Given the description of an element on the screen output the (x, y) to click on. 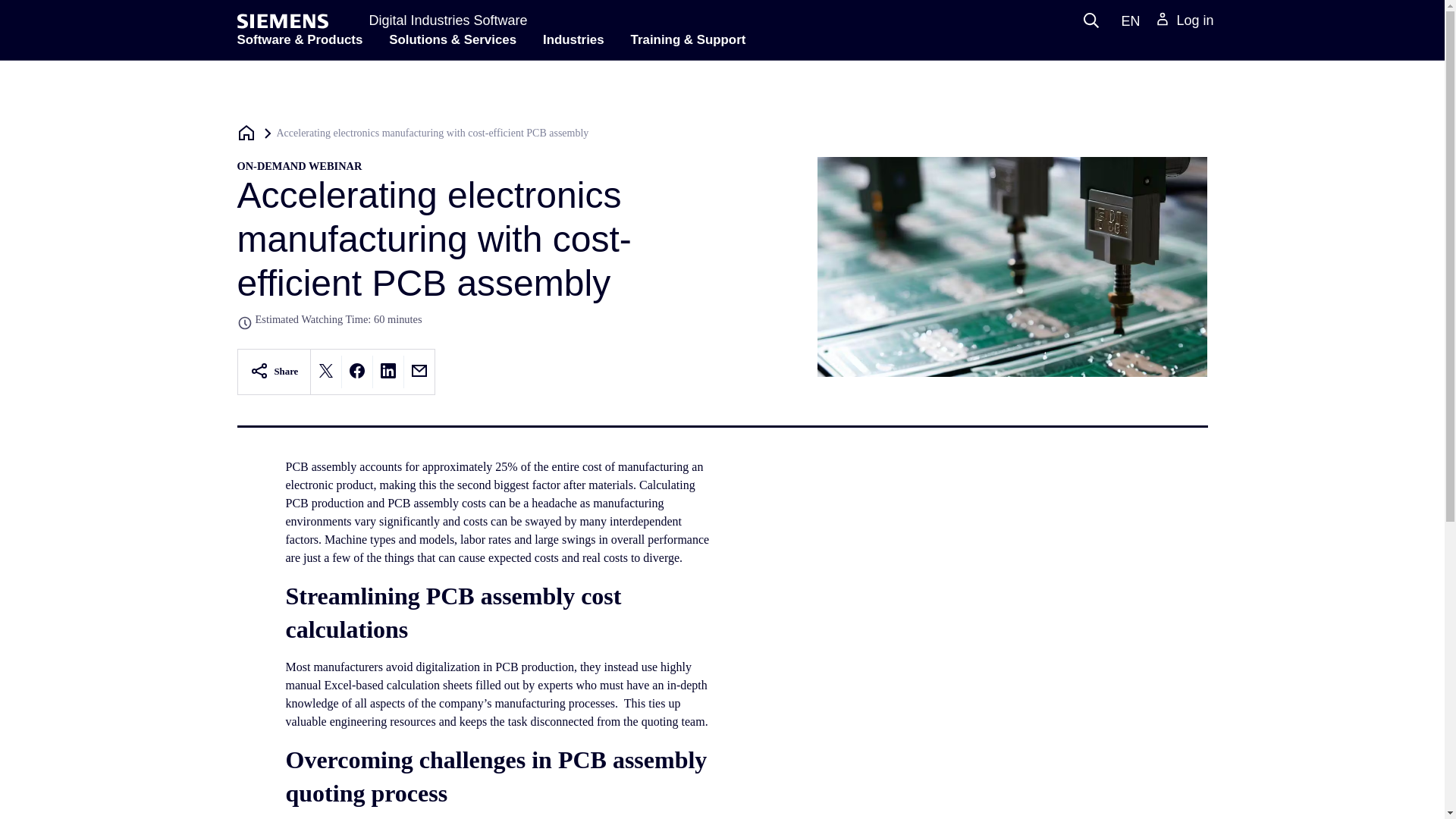
Digital Industries Software (447, 20)
search (1091, 20)
Siemens (281, 20)
